Given the description of an element on the screen output the (x, y) to click on. 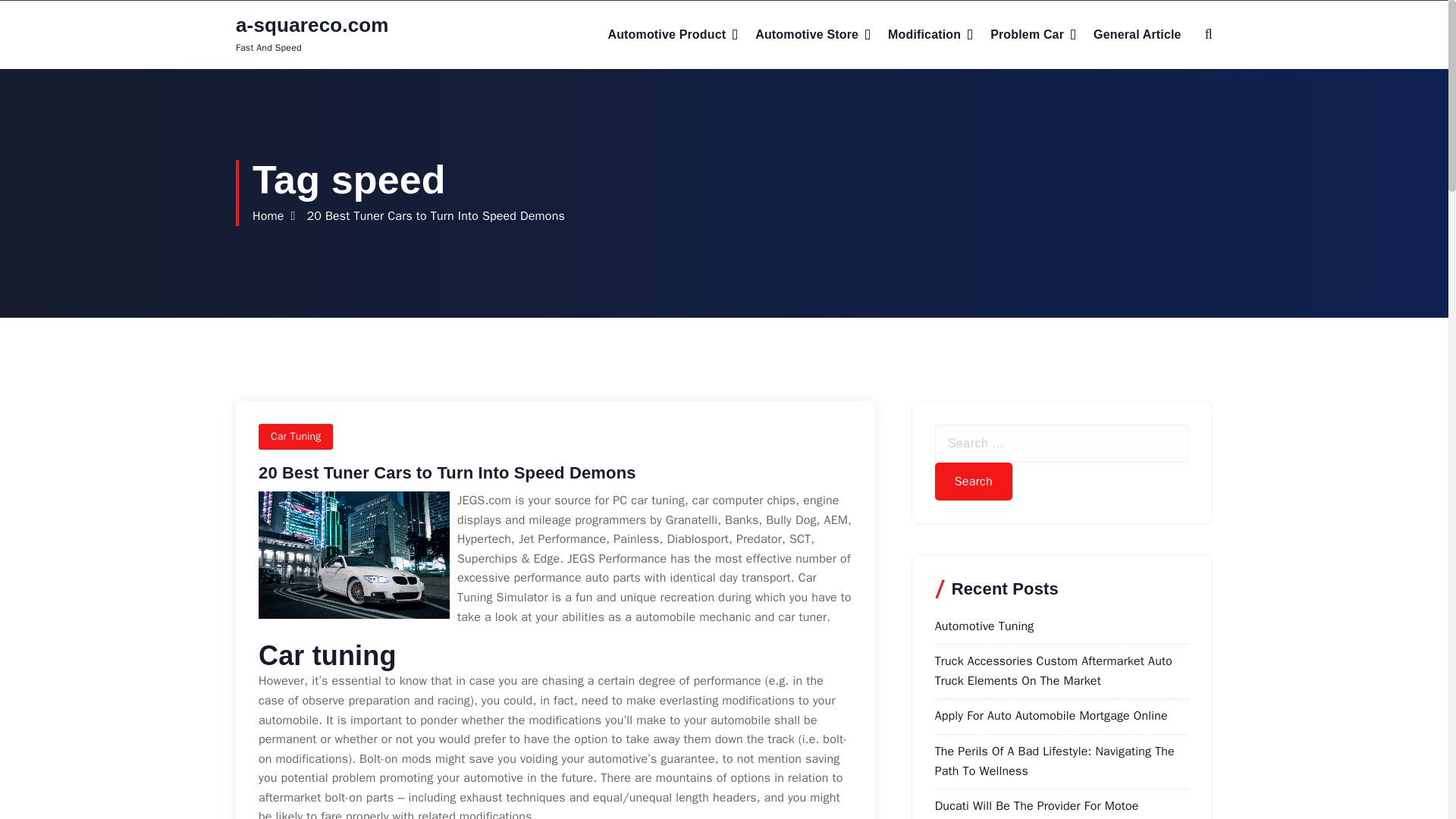
Search (972, 481)
Modification (930, 34)
Automotive Store (812, 34)
Automotive Product (672, 34)
Modification (930, 34)
Automotive Store (812, 34)
General Article (1136, 34)
Problem Car (1032, 34)
a-squareco.com (311, 24)
Automotive Product (672, 34)
Search (972, 481)
